Given the description of an element on the screen output the (x, y) to click on. 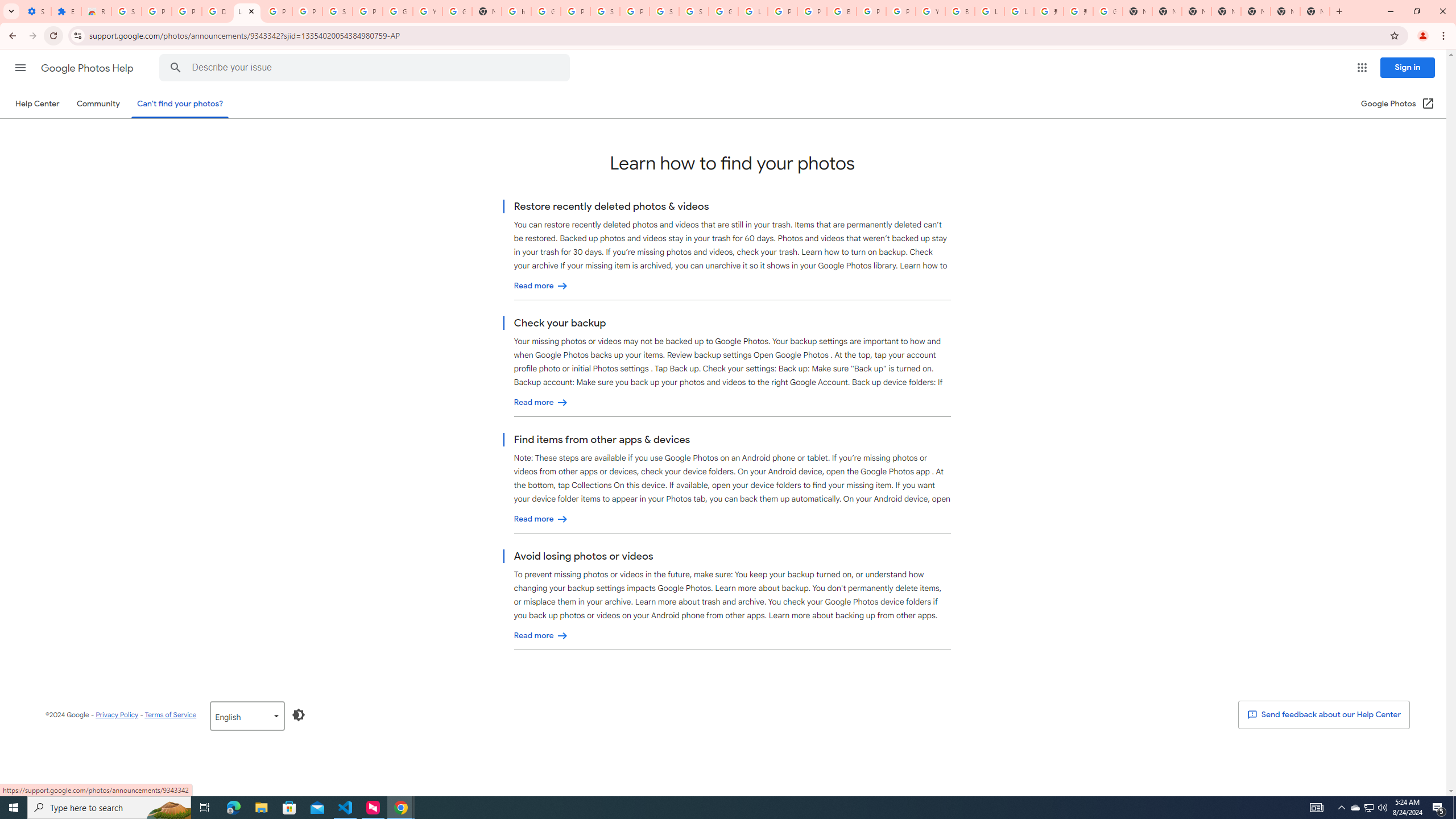
New Tab (1226, 11)
Community (97, 103)
Describe your issue (366, 67)
Google Photos (Open in a new window) (1397, 103)
 Send feedback about our Help Center (1323, 714)
